Given the description of an element on the screen output the (x, y) to click on. 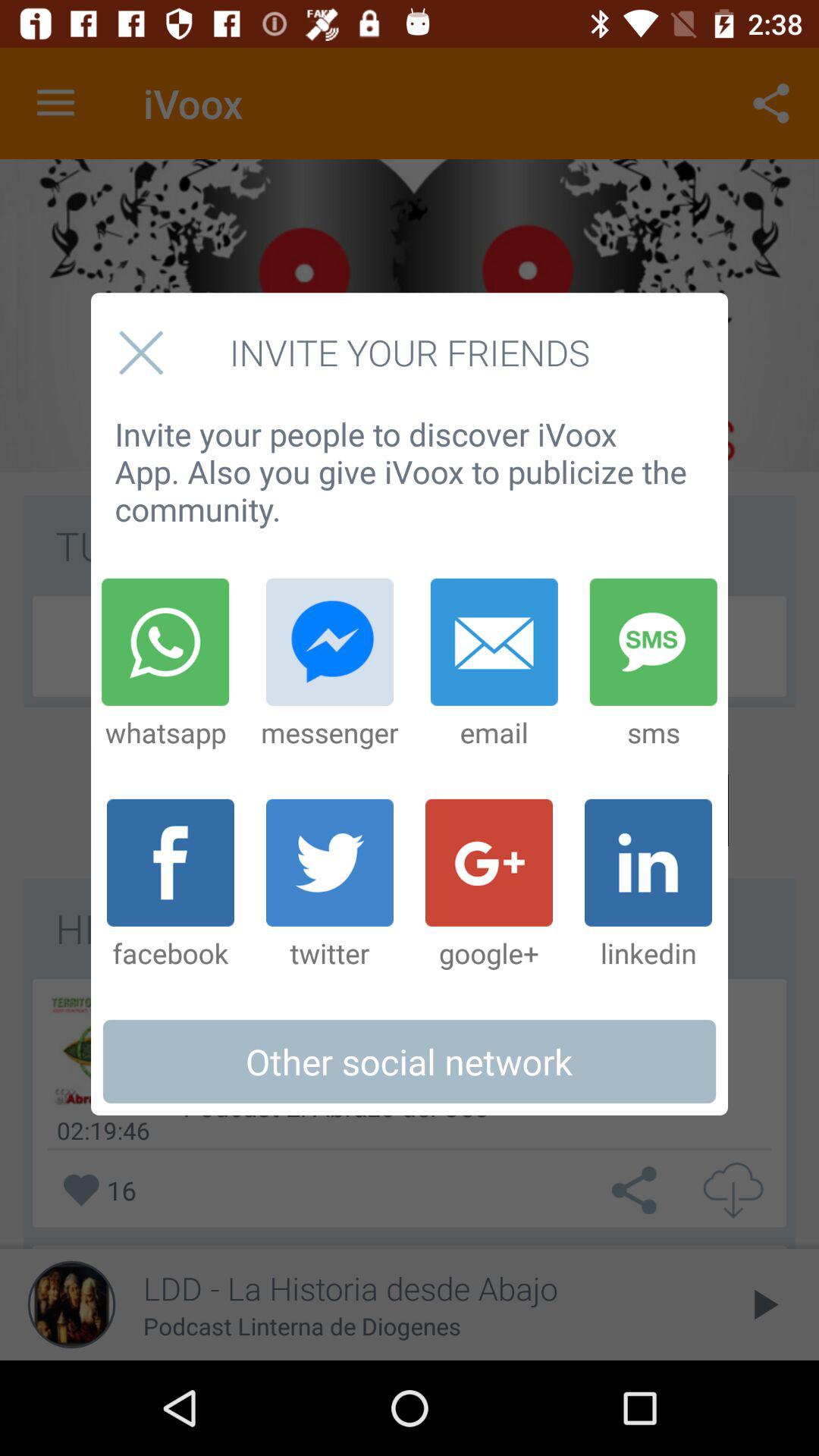
press email icon (493, 664)
